Given the description of an element on the screen output the (x, y) to click on. 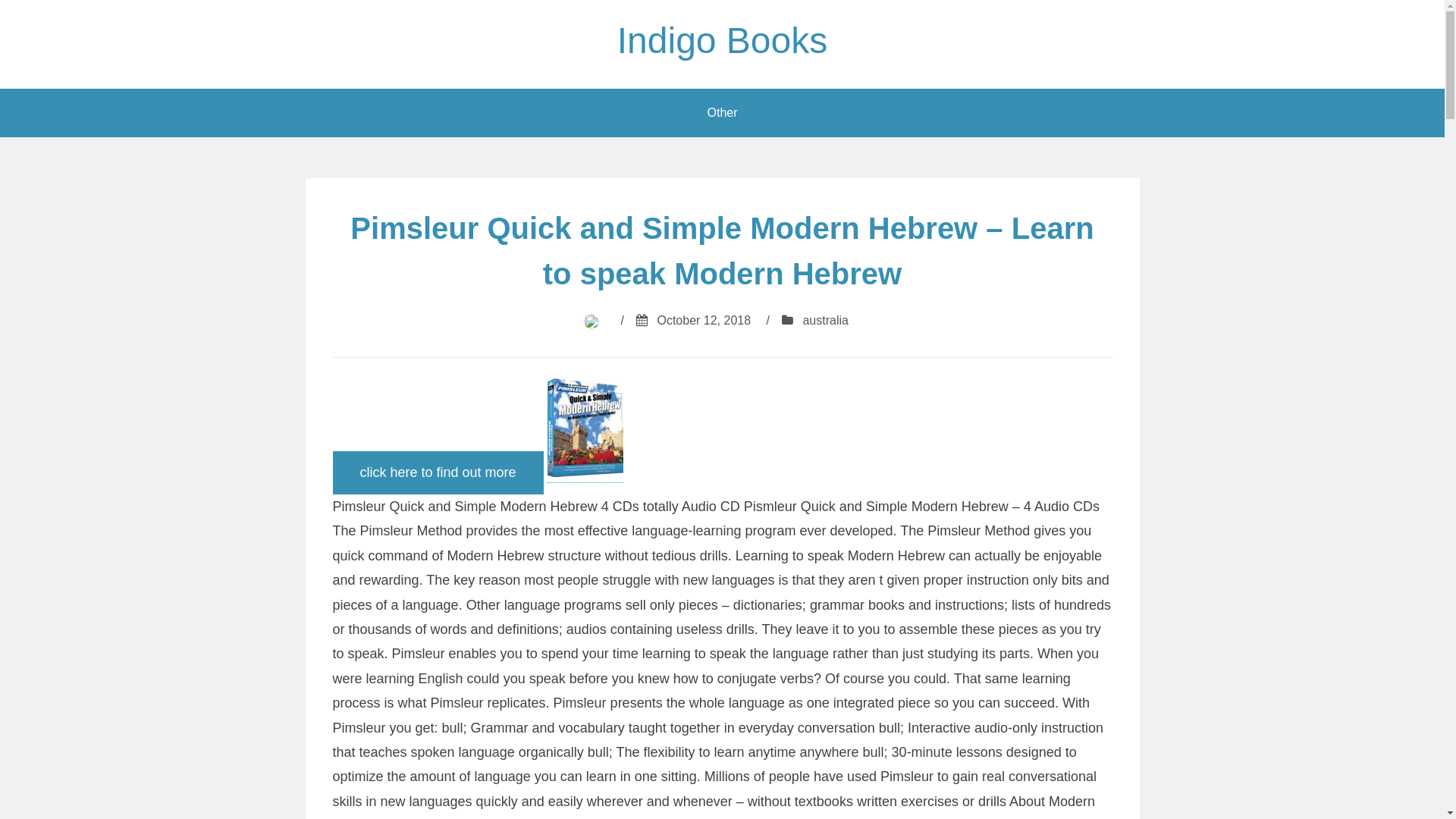
click here to find out more Element type: text (437, 472)
Indigo Books Element type: text (722, 40)
Other Element type: text (721, 112)
October 12, 2018 Element type: text (703, 319)
australia Element type: text (824, 319)
